Given the description of an element on the screen output the (x, y) to click on. 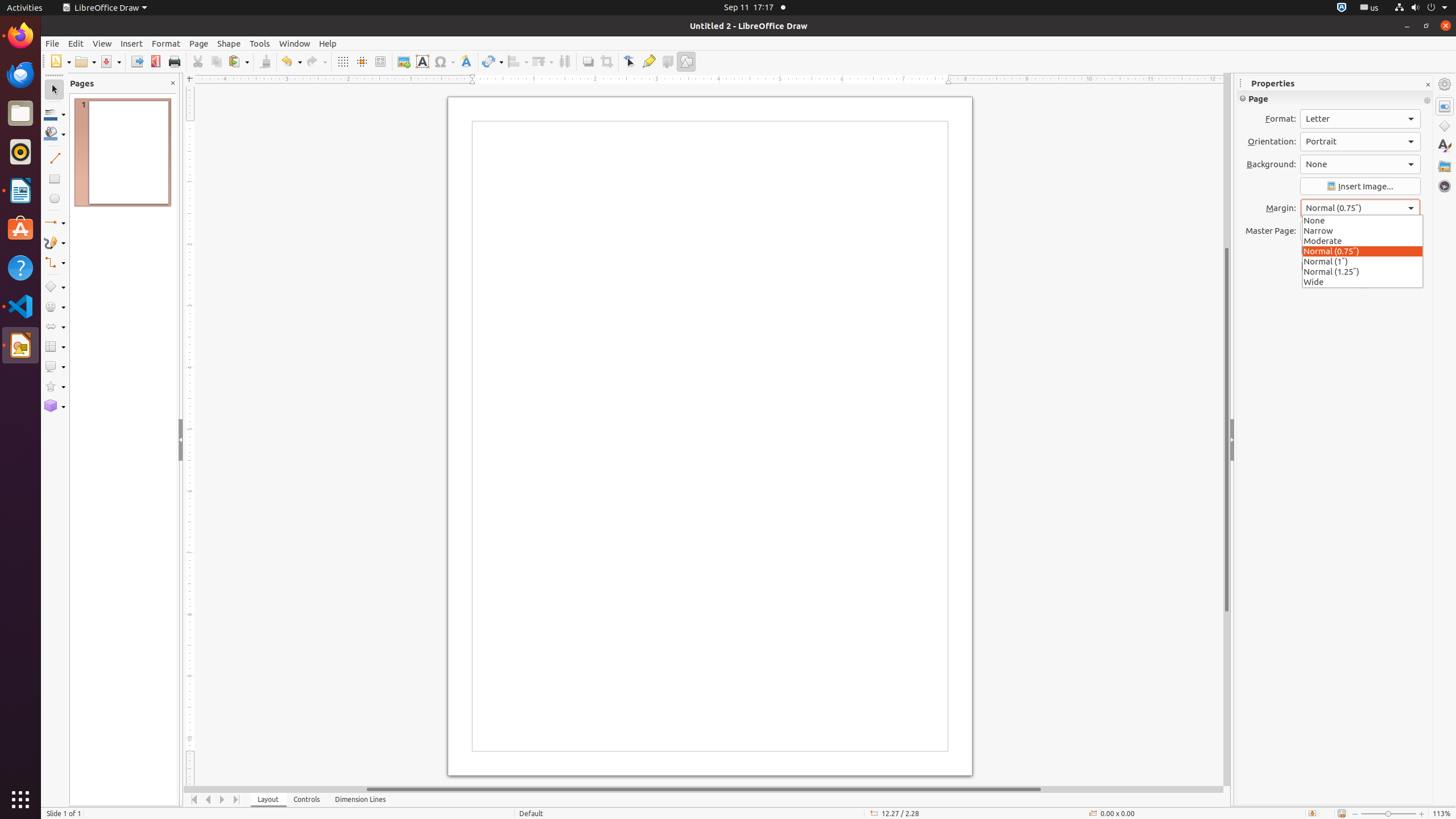
Move To End Element type: push-button (236, 799)
Window Element type: menu (294, 43)
Clone Element type: push-button (264, 61)
Helplines While Moving Element type: toggle-button (361, 61)
Shapes Element type: radio-button (1444, 126)
